Given the description of an element on the screen output the (x, y) to click on. 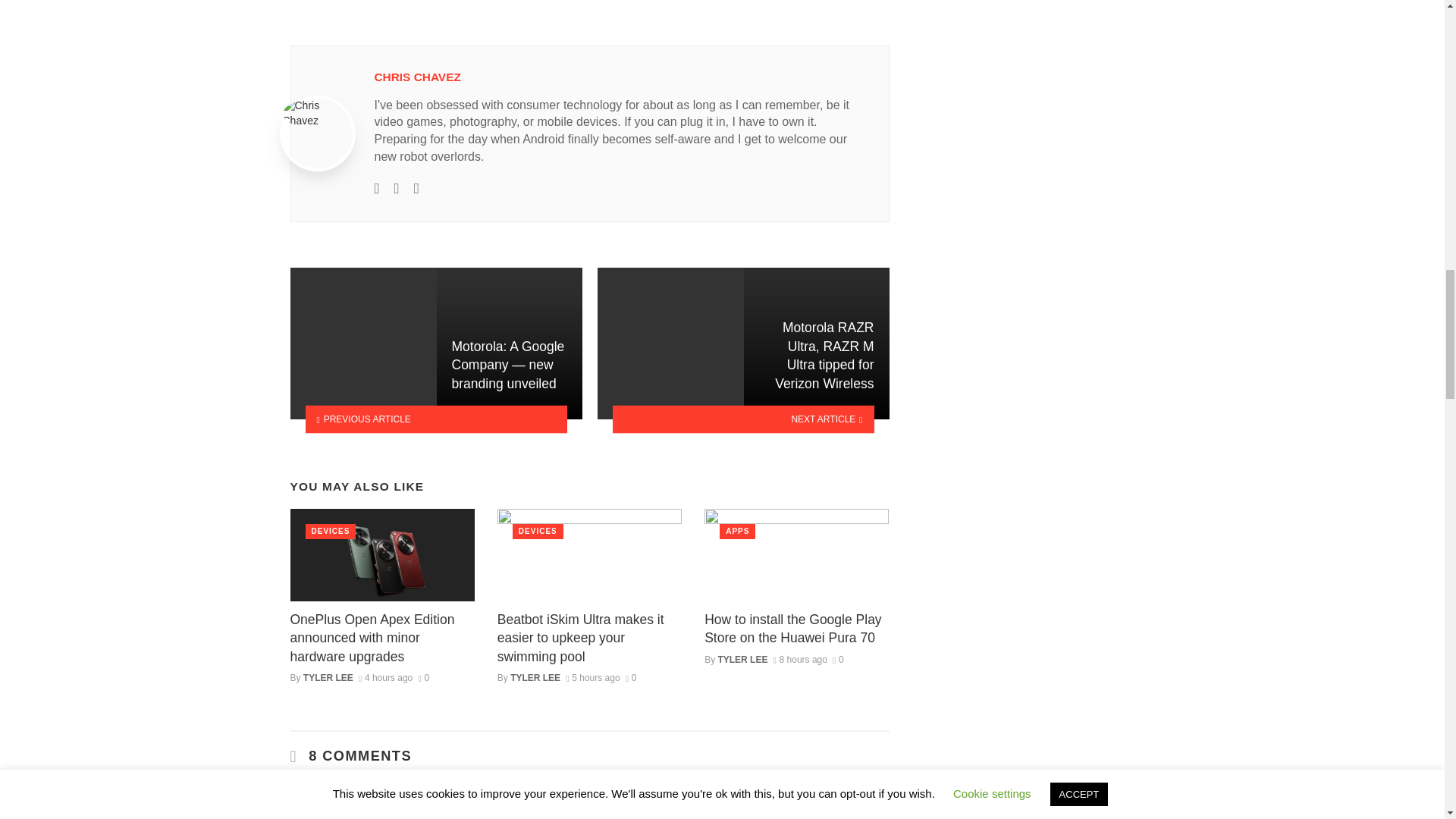
CHRIS CHAVEZ (417, 76)
Posts by Chris Chavez (417, 76)
0 Comments (631, 677)
August 1, 2024 at 11:07 am (385, 677)
0 Comments (423, 677)
August 1, 2024 at 10:13 am (593, 677)
